Given the description of an element on the screen output the (x, y) to click on. 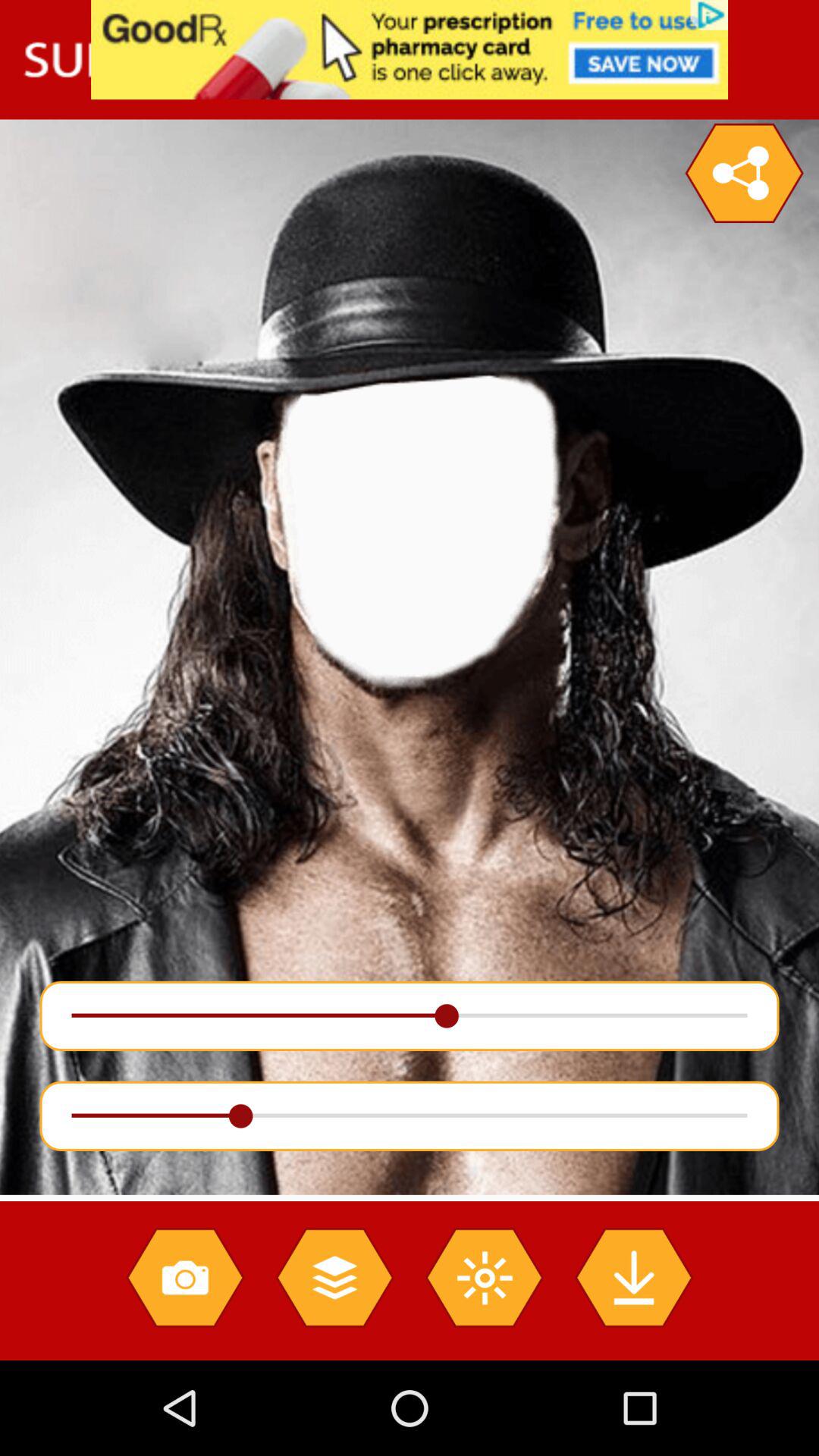
go to goodrx (409, 49)
